Given the description of an element on the screen output the (x, y) to click on. 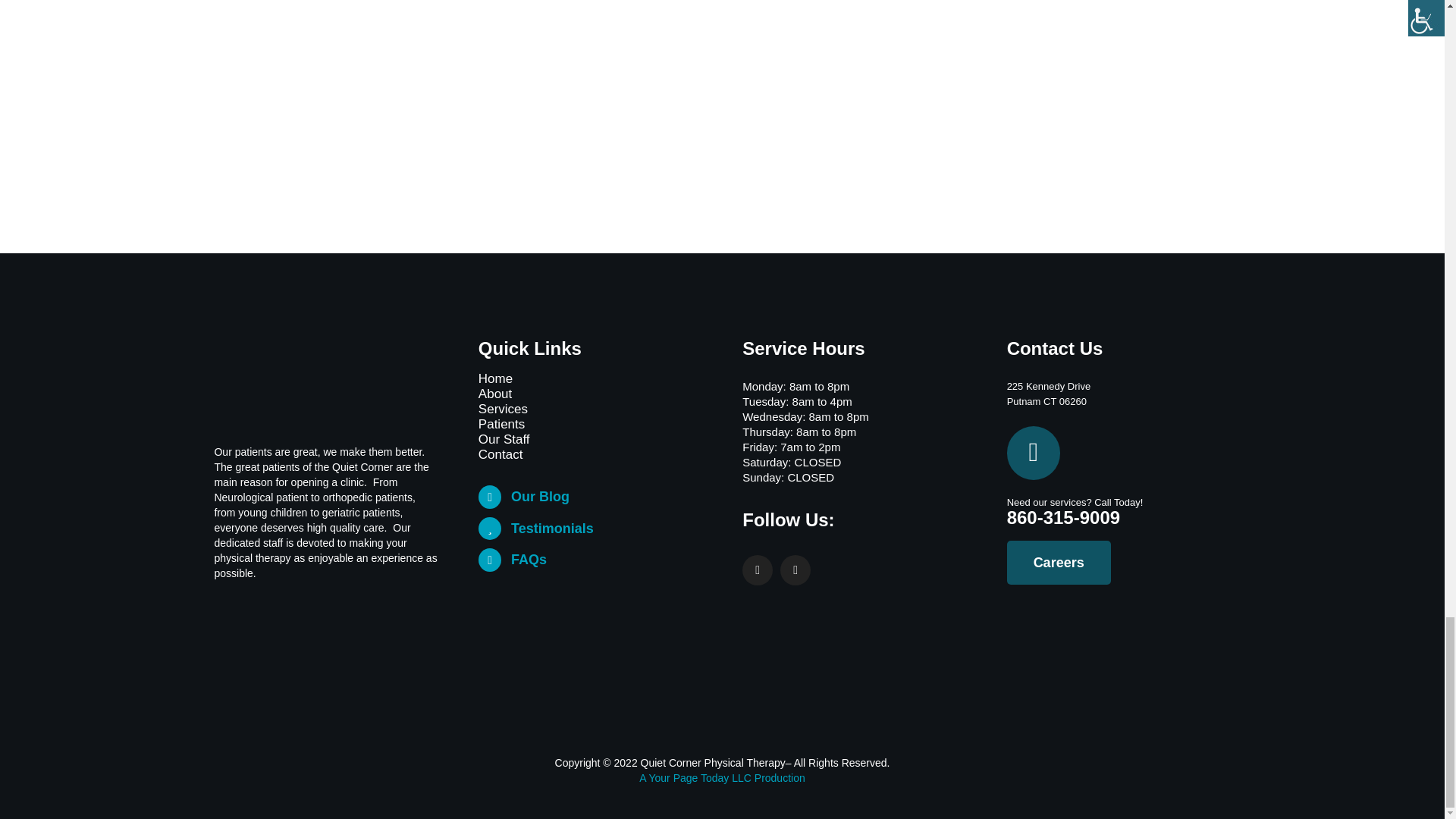
About (590, 394)
COVID 19 Prevention (1074, 656)
Our Staff (590, 439)
Home (590, 378)
Contact (590, 454)
Our Blog (540, 496)
Services (590, 409)
separator-dark (722, 737)
Patients (590, 424)
Facebook (757, 570)
